Given the description of an element on the screen output the (x, y) to click on. 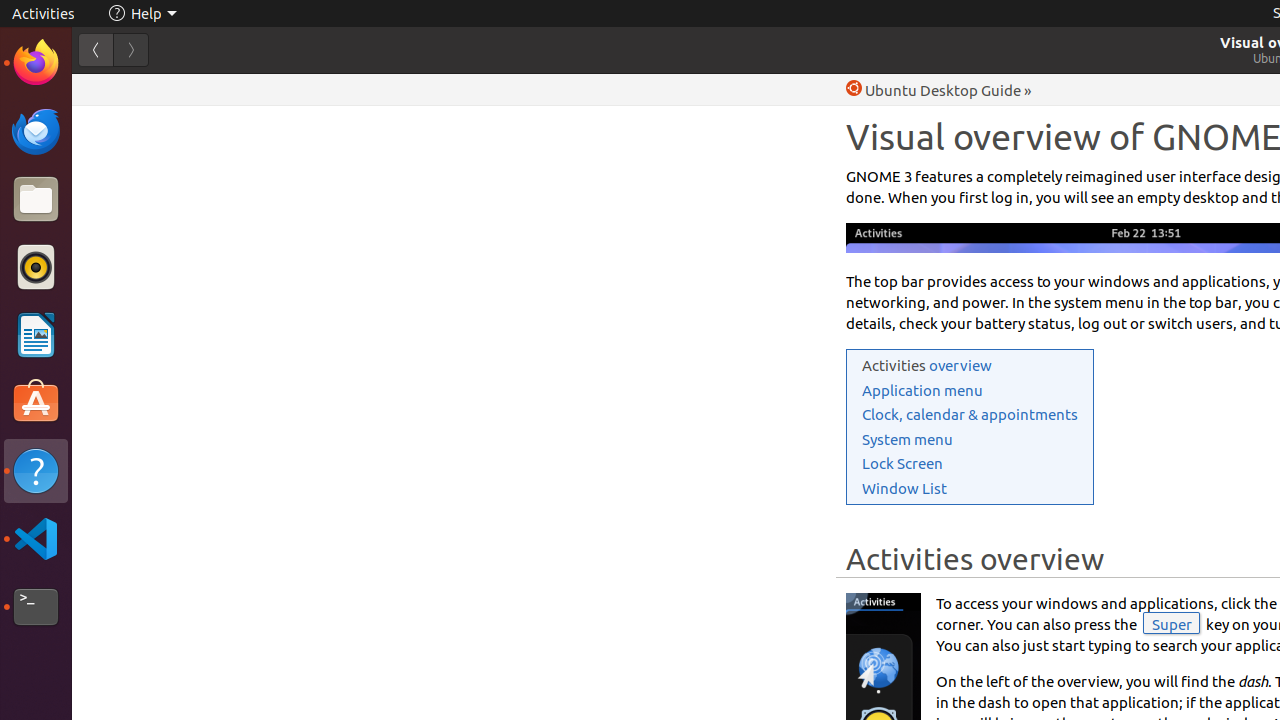
IsaHelpMain.desktop Element type: label (133, 300)
Help Ubuntu Desktop Guide Element type: link (933, 89)
li.txt Element type: label (259, 89)
Firefox Web Browser Element type: push-button (36, 63)
